Given the description of an element on the screen output the (x, y) to click on. 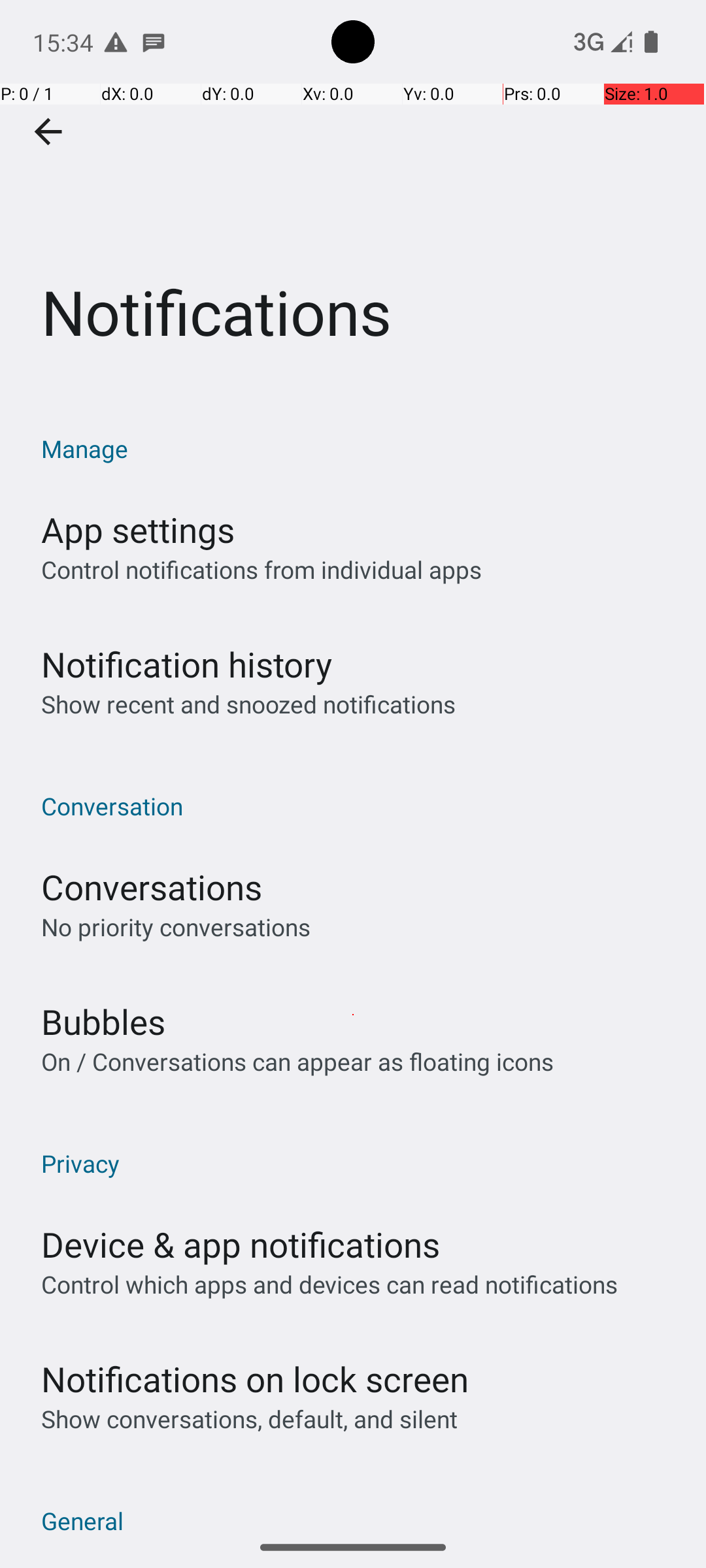
On / Conversations can appear as floating icons Element type: android.widget.TextView (297, 1061)
Show conversations, default, and silent Element type: android.widget.TextView (249, 1418)
